Given the description of an element on the screen output the (x, y) to click on. 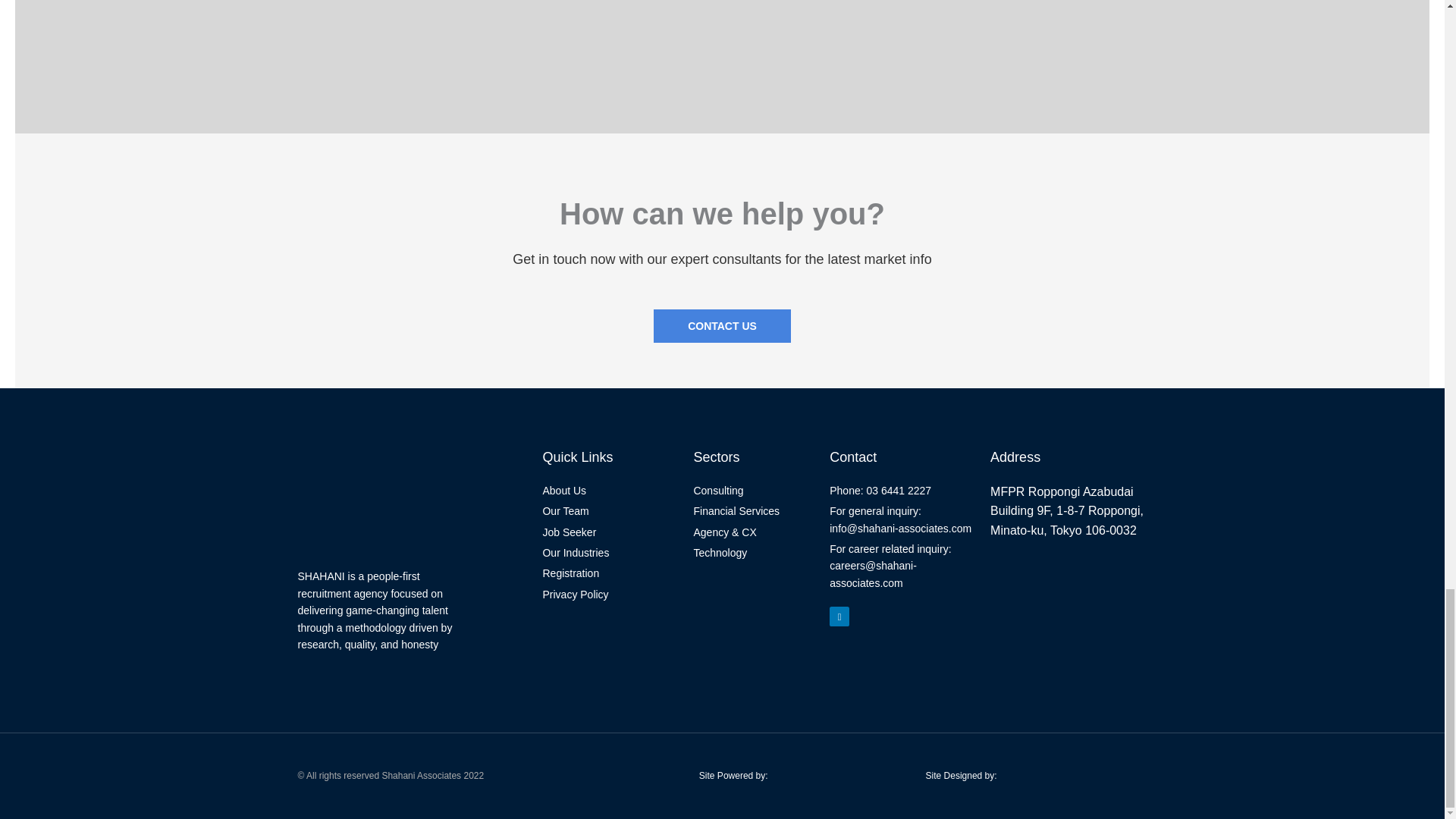
Our Team (609, 510)
CONTACT US (721, 326)
Financial Services (753, 510)
Job Seeker (609, 532)
Registration (609, 573)
About Us (609, 490)
Technology (753, 552)
Privacy Policy (609, 594)
Our Industries (609, 552)
Consulting (753, 490)
Linkedin (838, 616)
